Given the description of an element on the screen output the (x, y) to click on. 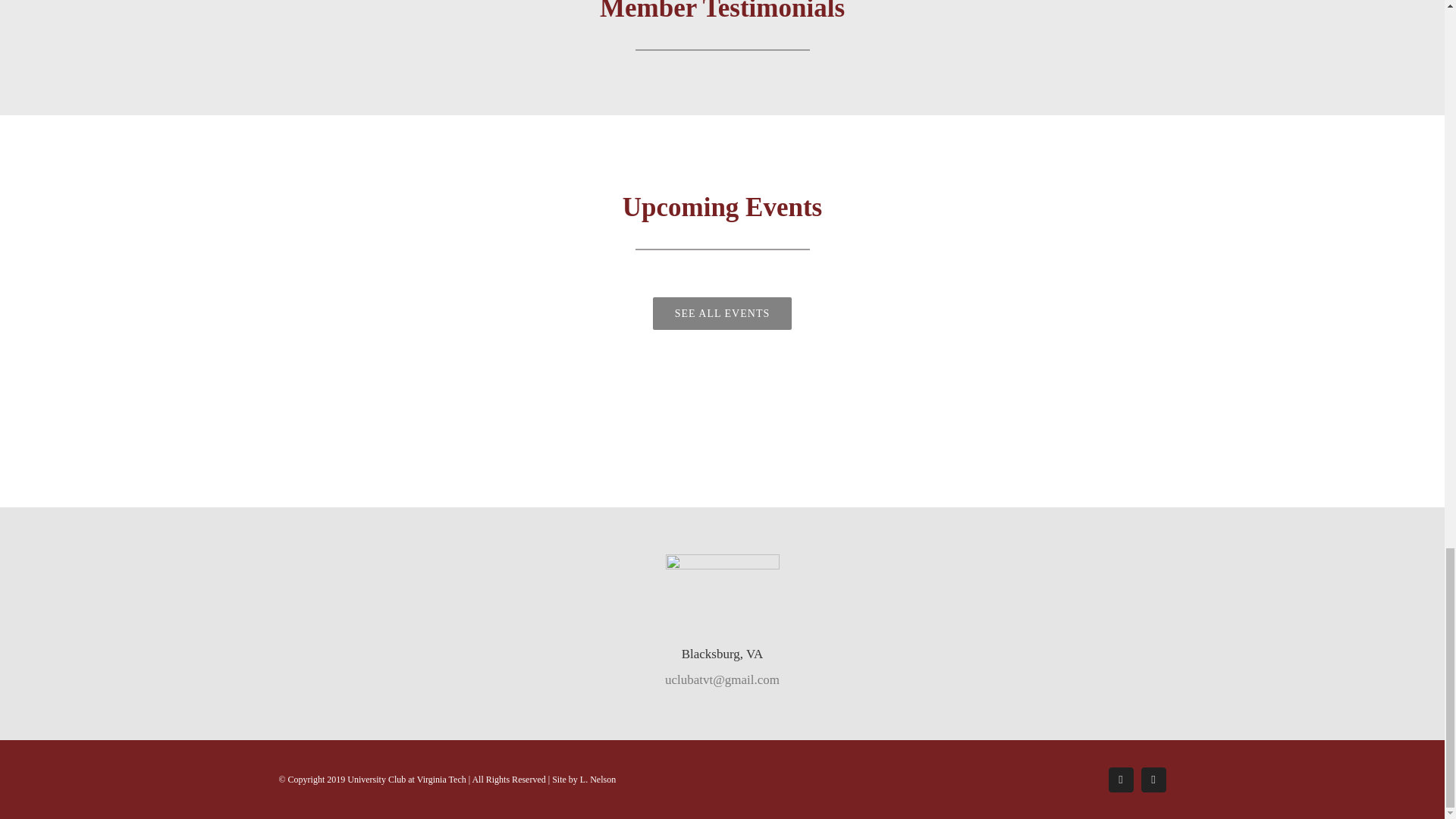
facebook (1121, 779)
facebook (1121, 779)
Email (1153, 779)
Email (1153, 779)
SEE ALL EVENTS (722, 313)
L. Nelson (597, 778)
